Given the description of an element on the screen output the (x, y) to click on. 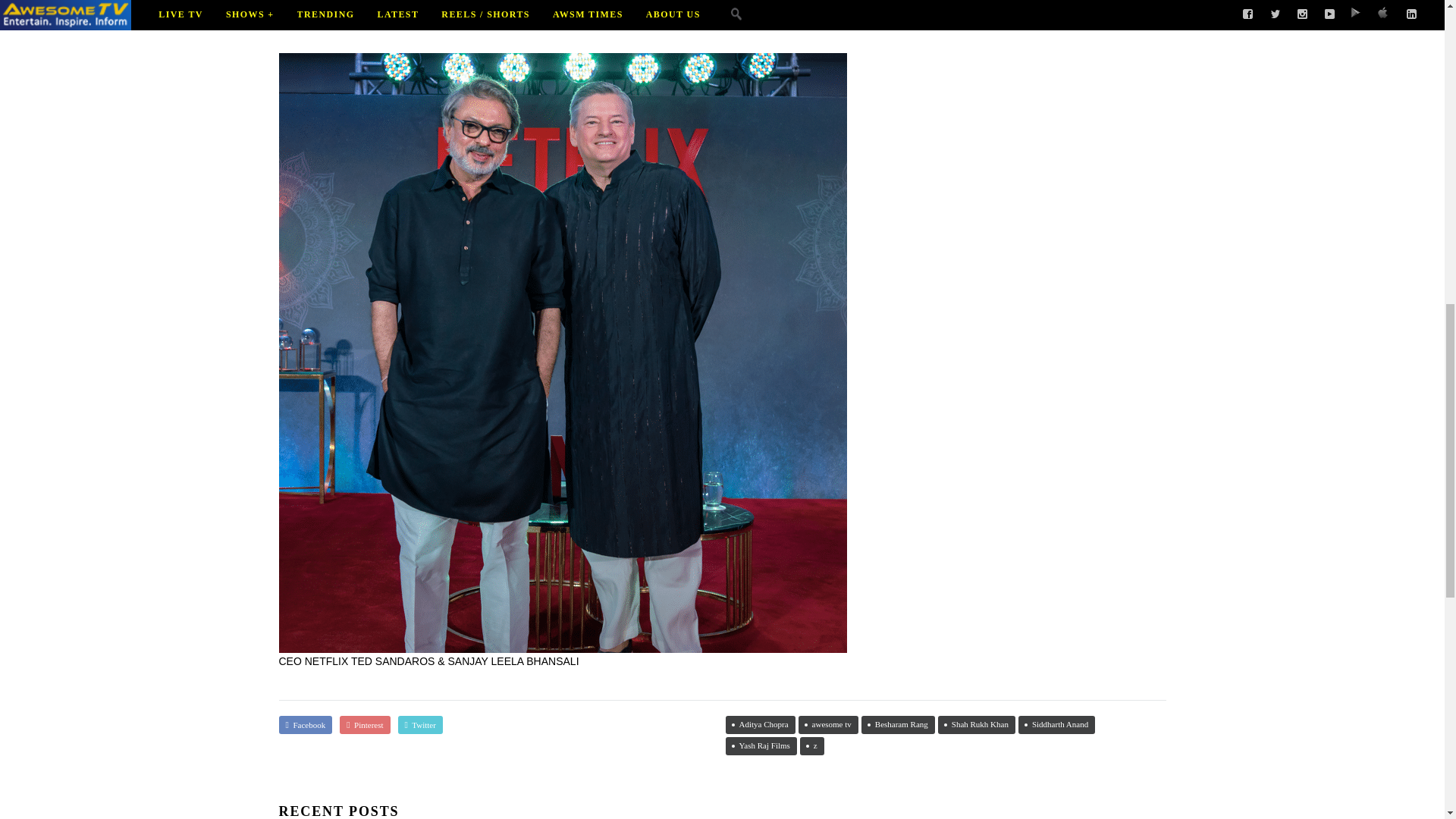
  Pinterest (364, 724)
  Facebook (306, 724)
